Given the description of an element on the screen output the (x, y) to click on. 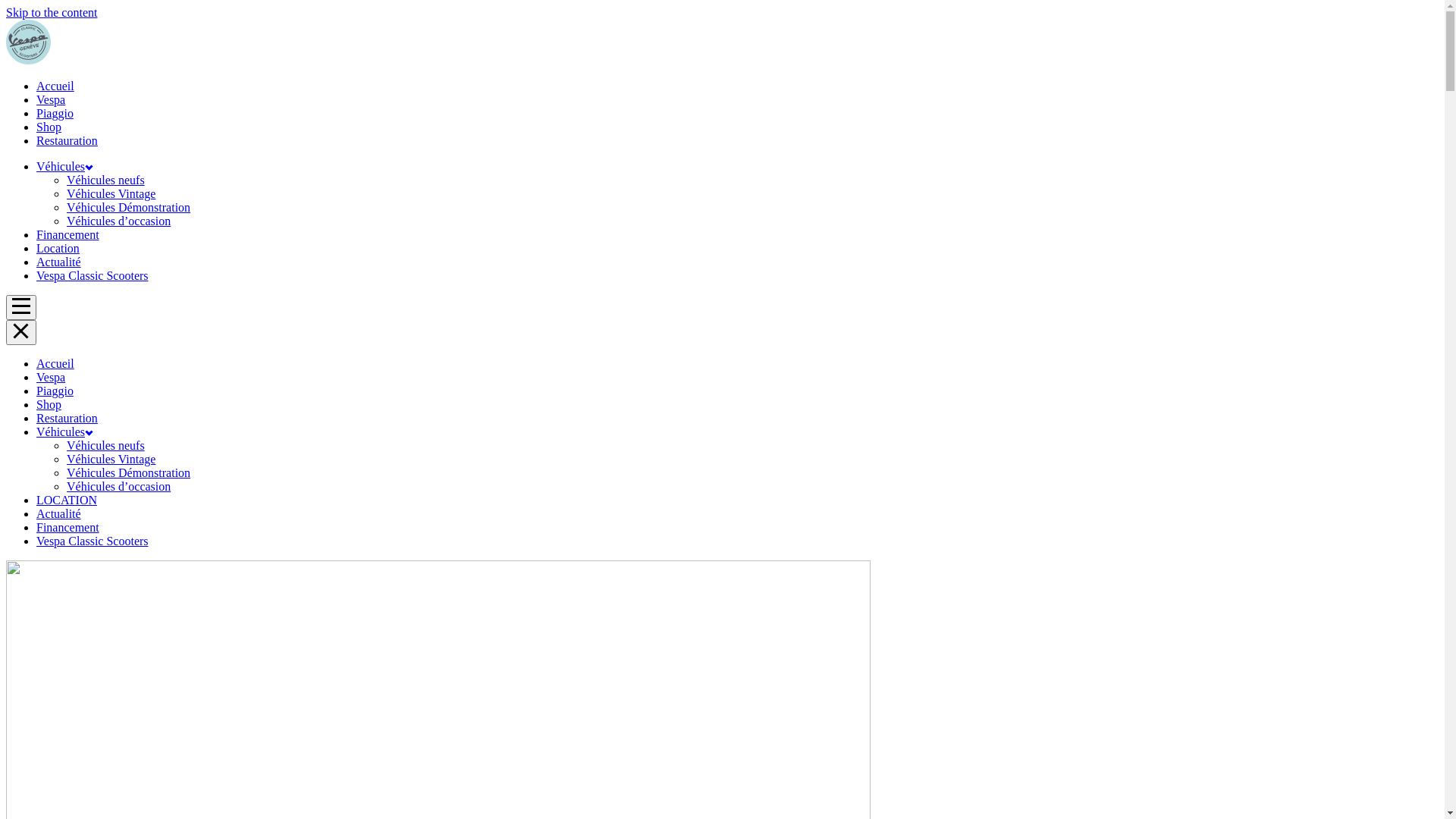
Vespa Classic Scooters Element type: text (92, 540)
Vespa Element type: text (50, 376)
Accueil Element type: text (55, 85)
Location Element type: text (57, 247)
Skip to the content Element type: text (51, 12)
Financement Element type: text (67, 526)
Shop Element type: text (48, 404)
Restauration Element type: text (66, 140)
Financement Element type: text (67, 234)
Vespa Element type: text (50, 99)
Piaggio Element type: text (54, 112)
Restauration Element type: text (66, 417)
Vespa Classic Scooters Element type: text (92, 275)
Accueil Element type: text (55, 363)
Piaggio Element type: text (54, 390)
LOCATION Element type: text (66, 499)
Shop Element type: text (48, 126)
